Given the description of an element on the screen output the (x, y) to click on. 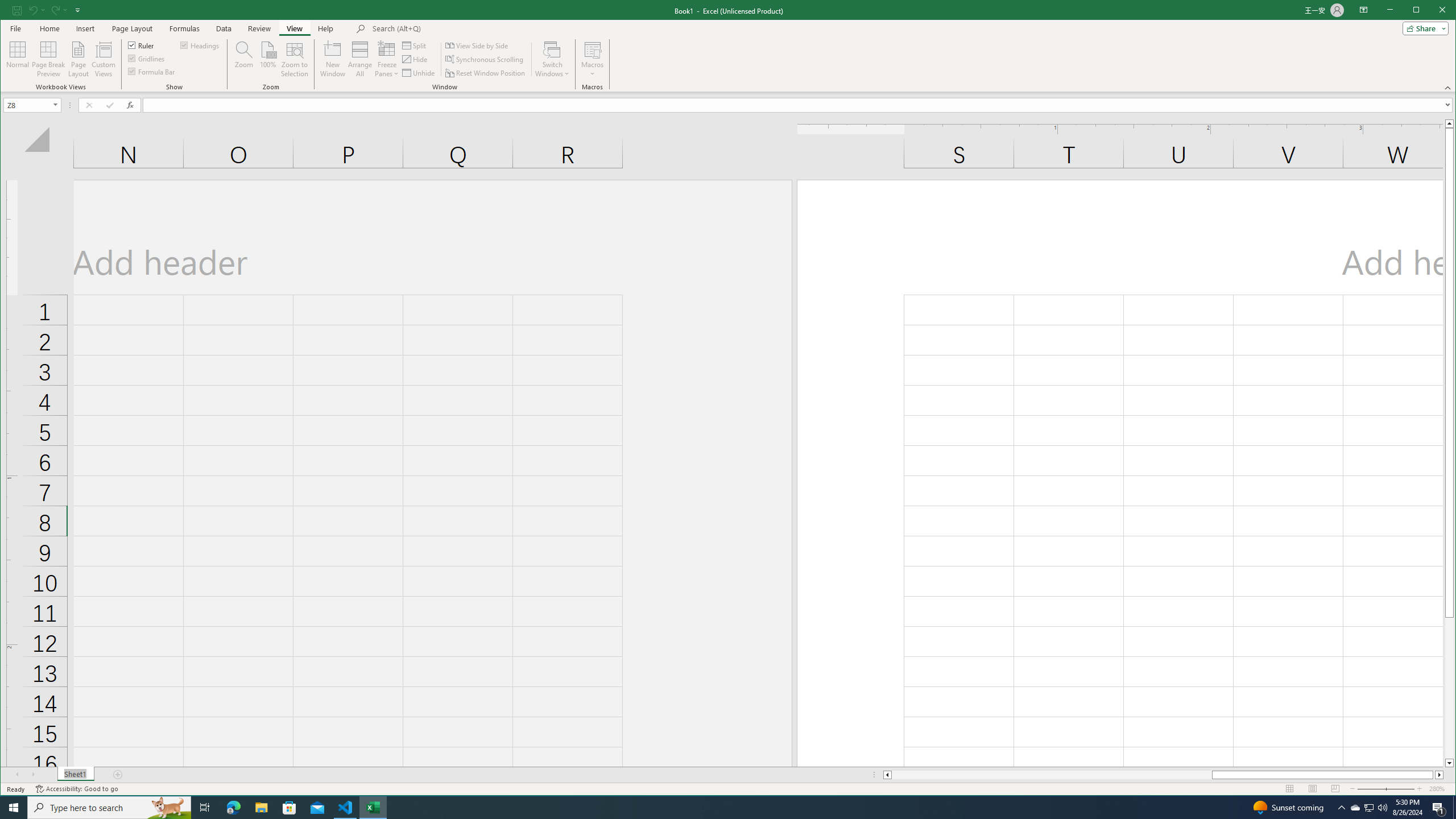
Add Sheet (118, 774)
Sunset coming (1288, 807)
Arrange All (360, 59)
Save (16, 9)
Sheet1 (75, 774)
Customize Quick Access Toolbar (1368, 807)
Type here to search (77, 9)
Unhide... (108, 807)
Formula Bar (419, 72)
Scroll Left (152, 70)
Zoom Out (18, 774)
Microsoft Store (1378, 788)
